Given the description of an element on the screen output the (x, y) to click on. 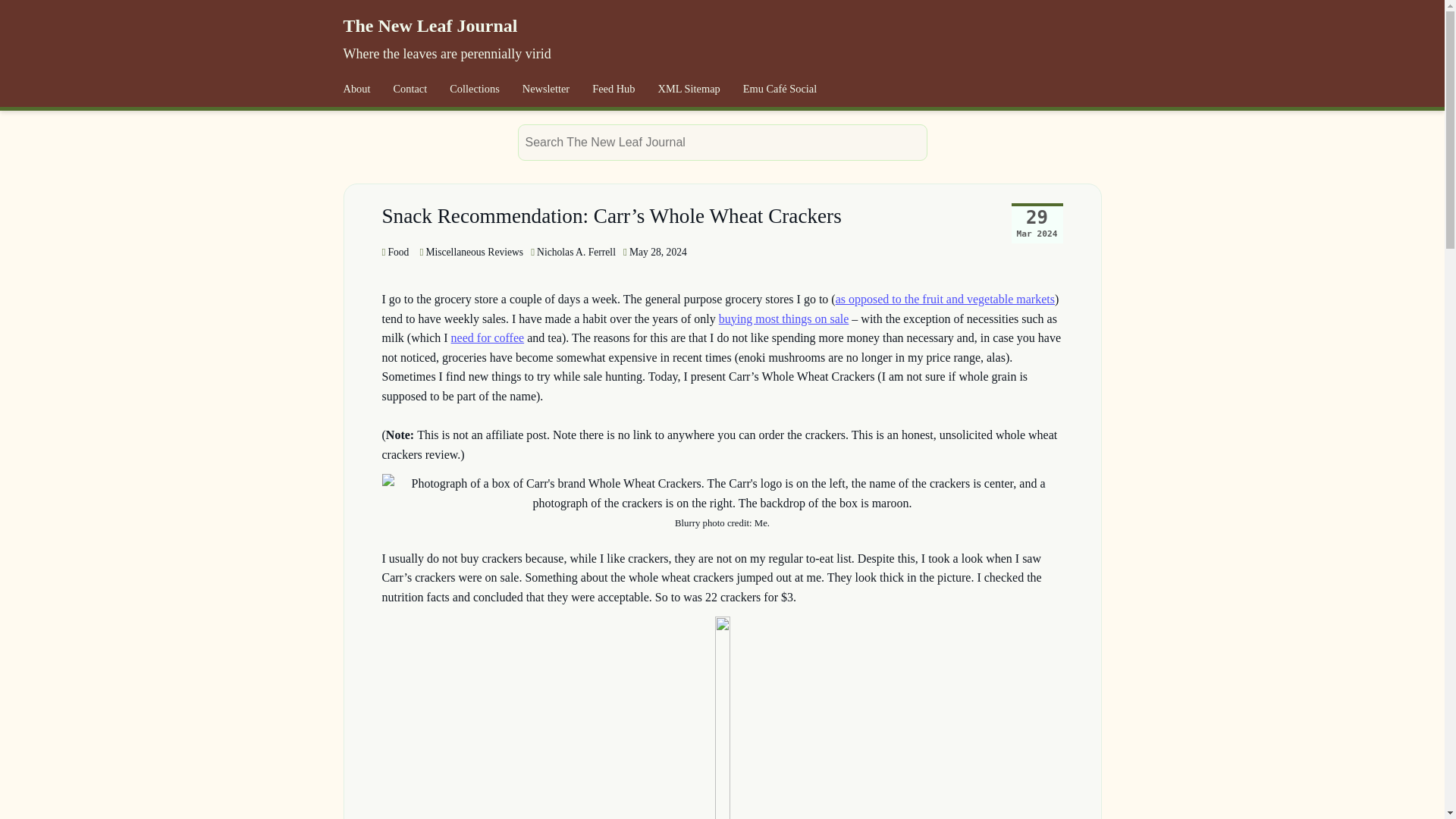
The New Leaf Journal (429, 25)
Miscellaneous Reviews (470, 251)
Nicholas A. Ferrell (576, 251)
Food (395, 251)
buying most things on sale (783, 318)
Collections (474, 89)
need for coffee (487, 337)
Newsletter (545, 89)
XML Sitemap (689, 89)
About (356, 89)
